Given the description of an element on the screen output the (x, y) to click on. 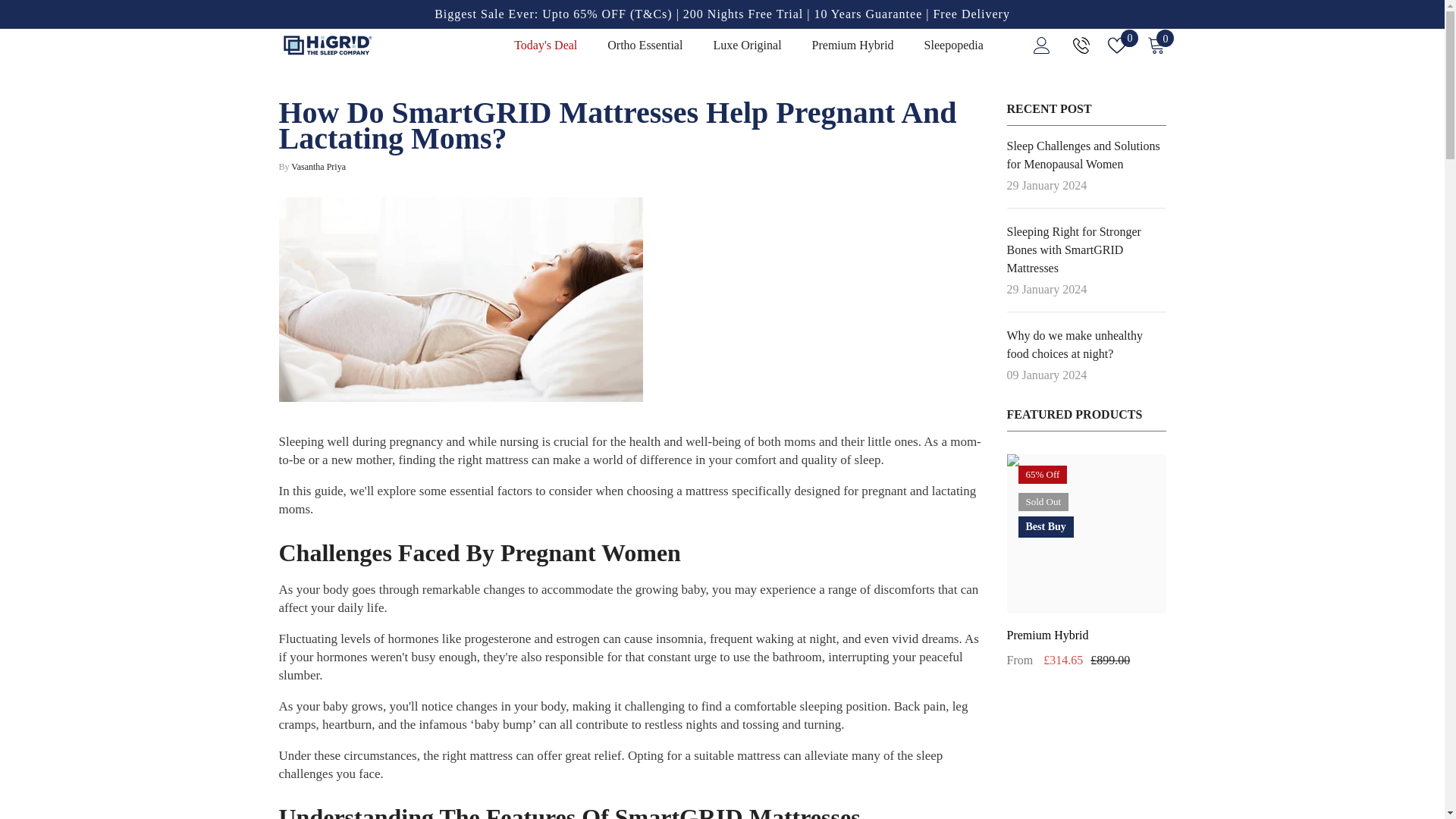
Premium Hybrid (1086, 635)
Sleep Challenges and Solutions for Menopausal Women (1086, 155)
Sleeping Right for Stronger Bones with SmartGRID Mattresses (1086, 249)
Why do we make unhealthy food choices at night? (1086, 344)
Vasantha Priya (318, 166)
